Given the description of an element on the screen output the (x, y) to click on. 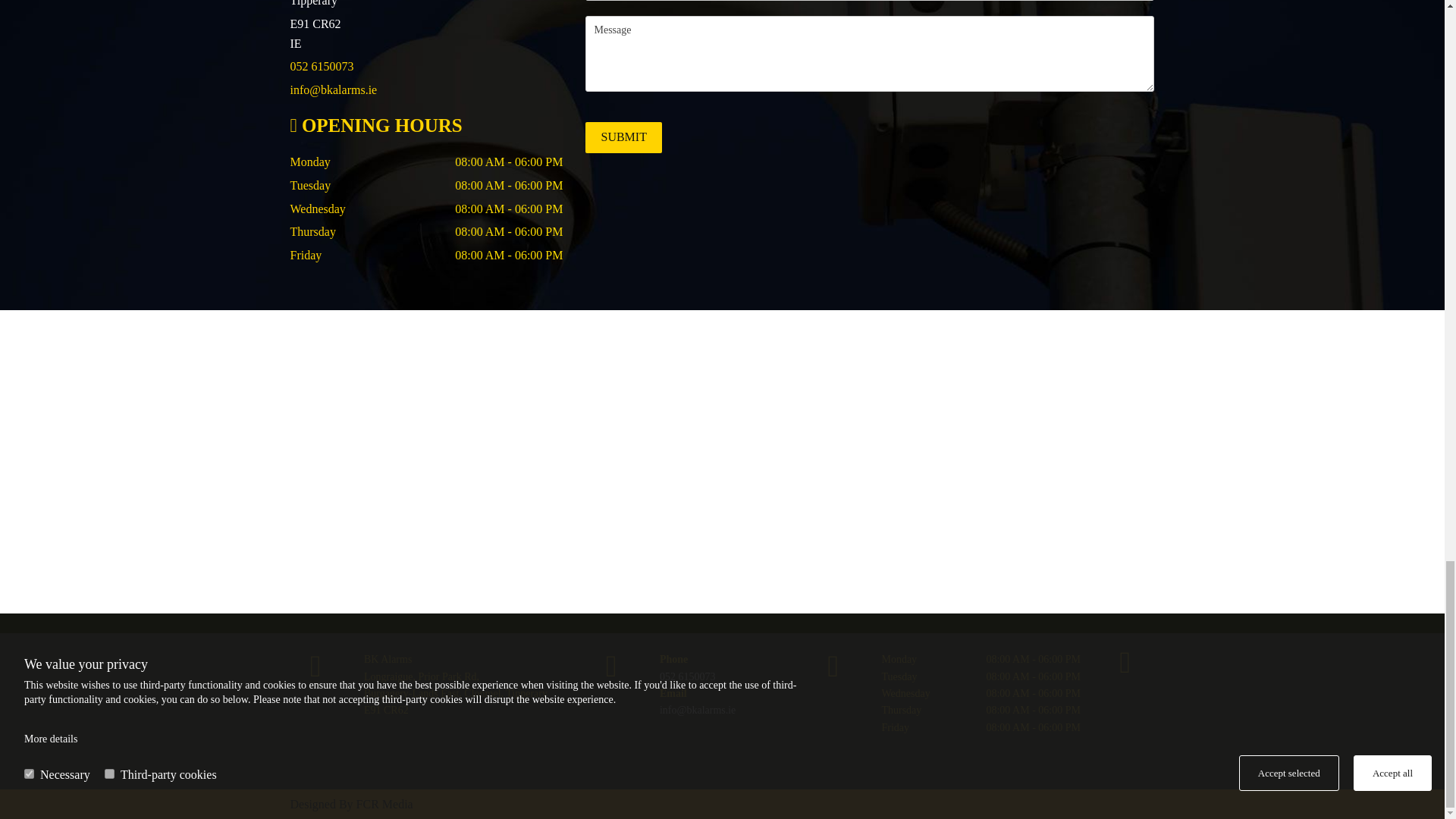
Google plus (1125, 662)
Need a Website? (350, 803)
Submit (623, 137)
052 6150073 (687, 676)
Designed By FCR Media (350, 803)
052 6150073 (321, 65)
Submit (623, 137)
